Given the description of an element on the screen output the (x, y) to click on. 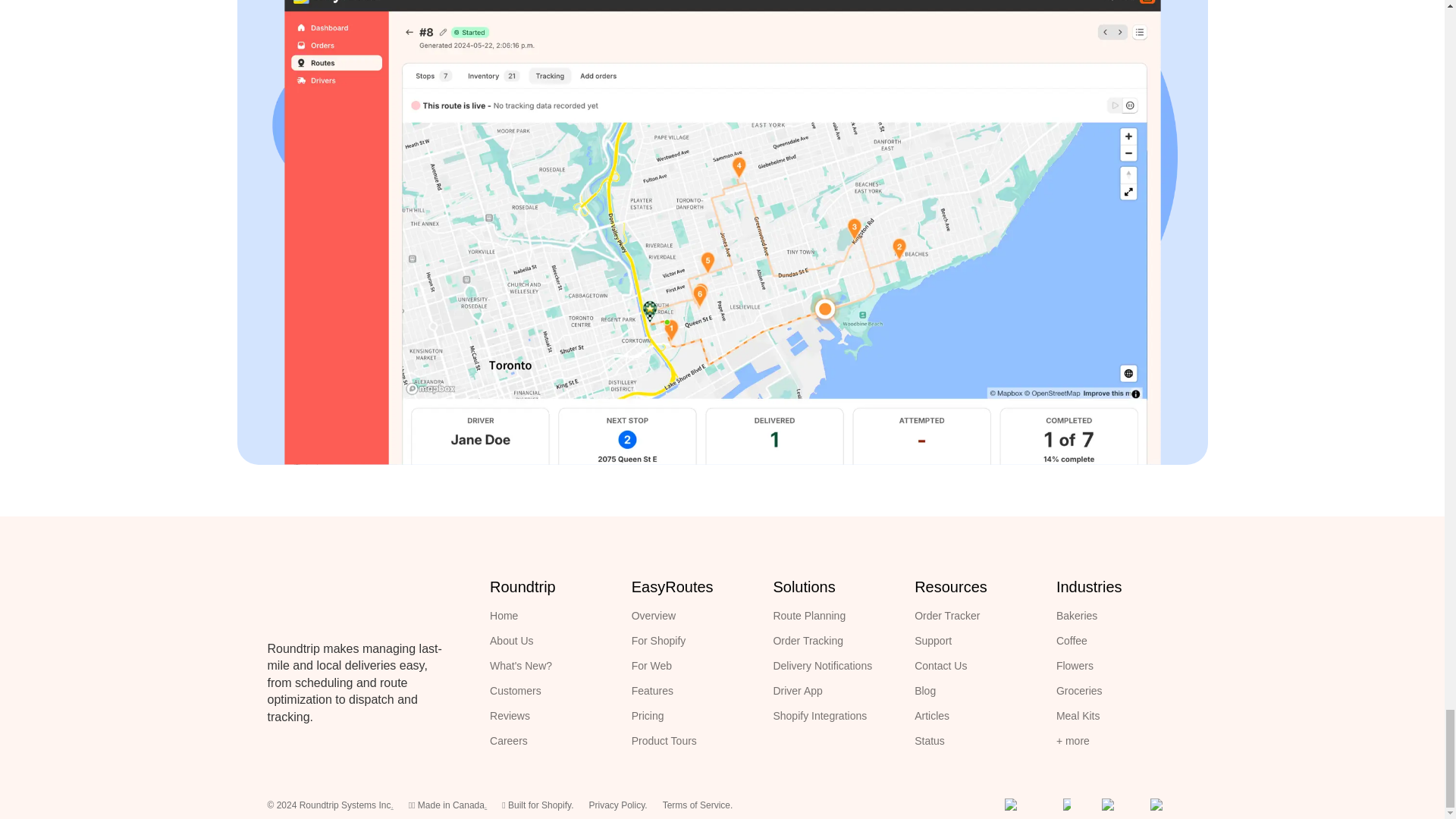
Privacy Policy. (617, 805)
